Given the description of an element on the screen output the (x, y) to click on. 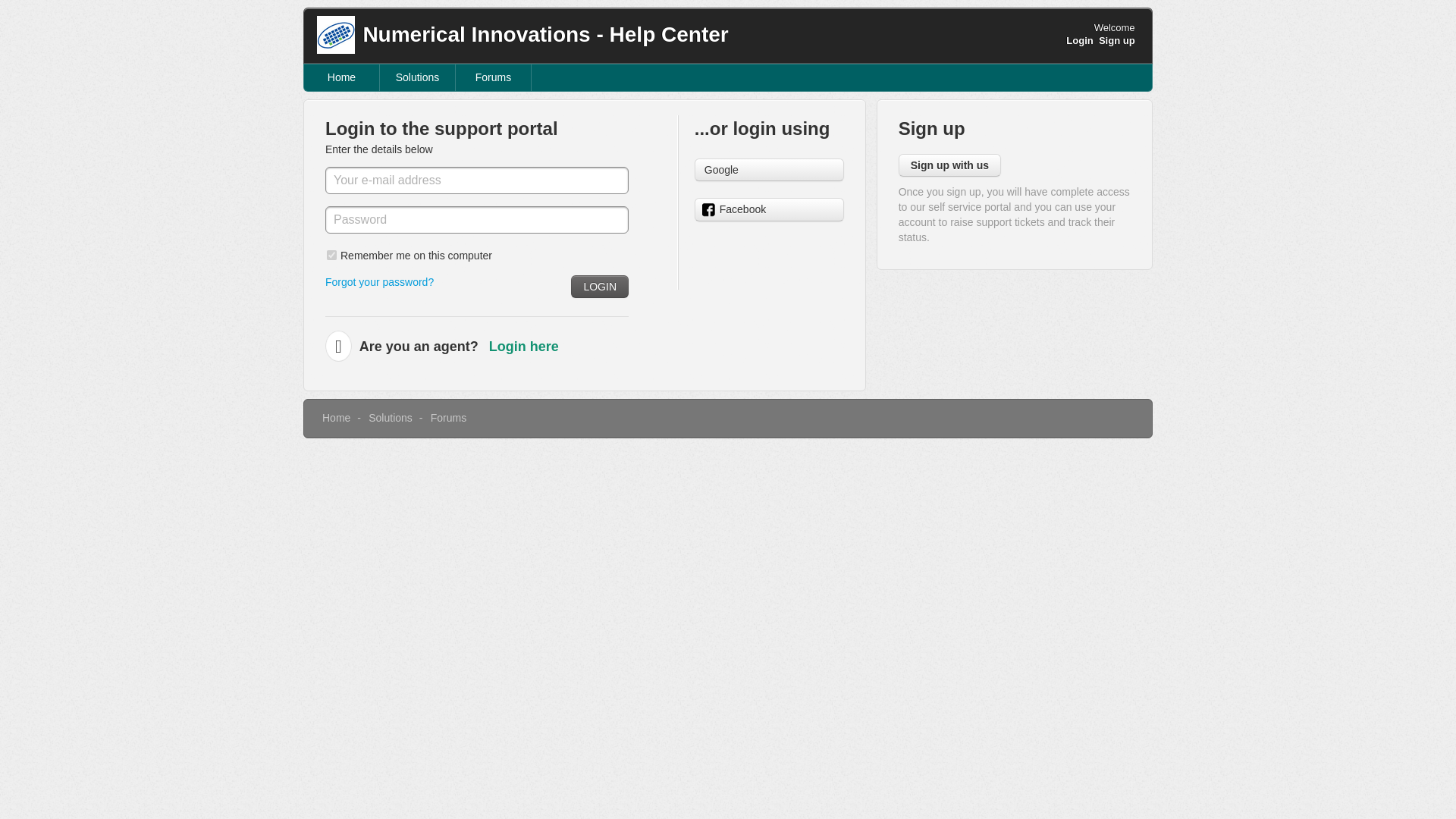
Forgot your password? (378, 282)
Home (335, 417)
1 (331, 255)
Google (769, 169)
Facebook (769, 209)
Sign up with us (949, 164)
Login here (524, 346)
LOGIN (599, 286)
Forums (447, 417)
Sign up (1117, 40)
Solutions (390, 417)
Forums (493, 77)
Solutions (417, 77)
Home (342, 77)
